Given the description of an element on the screen output the (x, y) to click on. 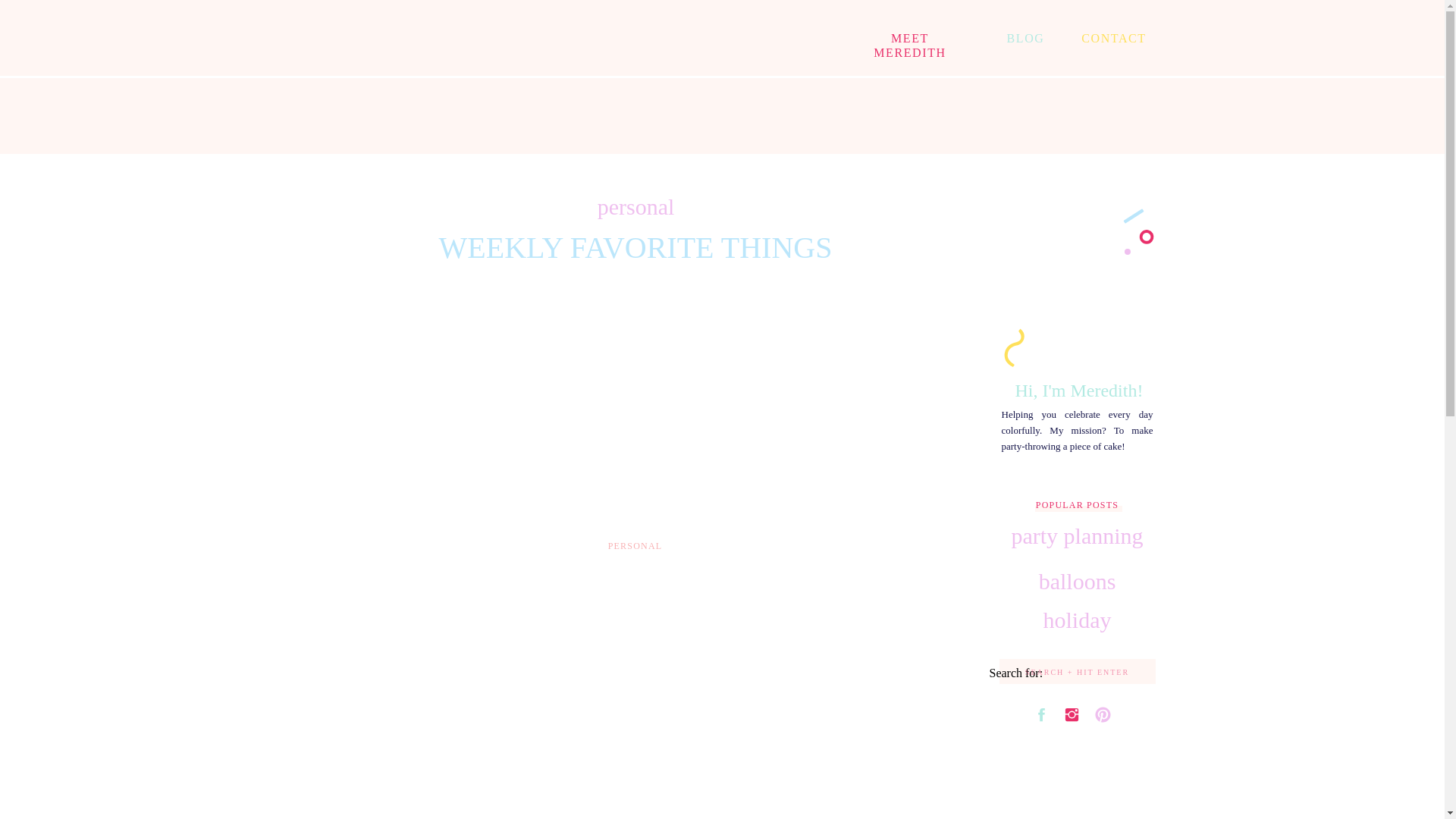
personal (635, 206)
balloons (1077, 581)
party planning (1077, 535)
BLOG (1026, 39)
holiday (1077, 619)
MEET MEREDITH (909, 39)
CONTACT (1114, 39)
PERSONAL (635, 545)
